Given the description of an element on the screen output the (x, y) to click on. 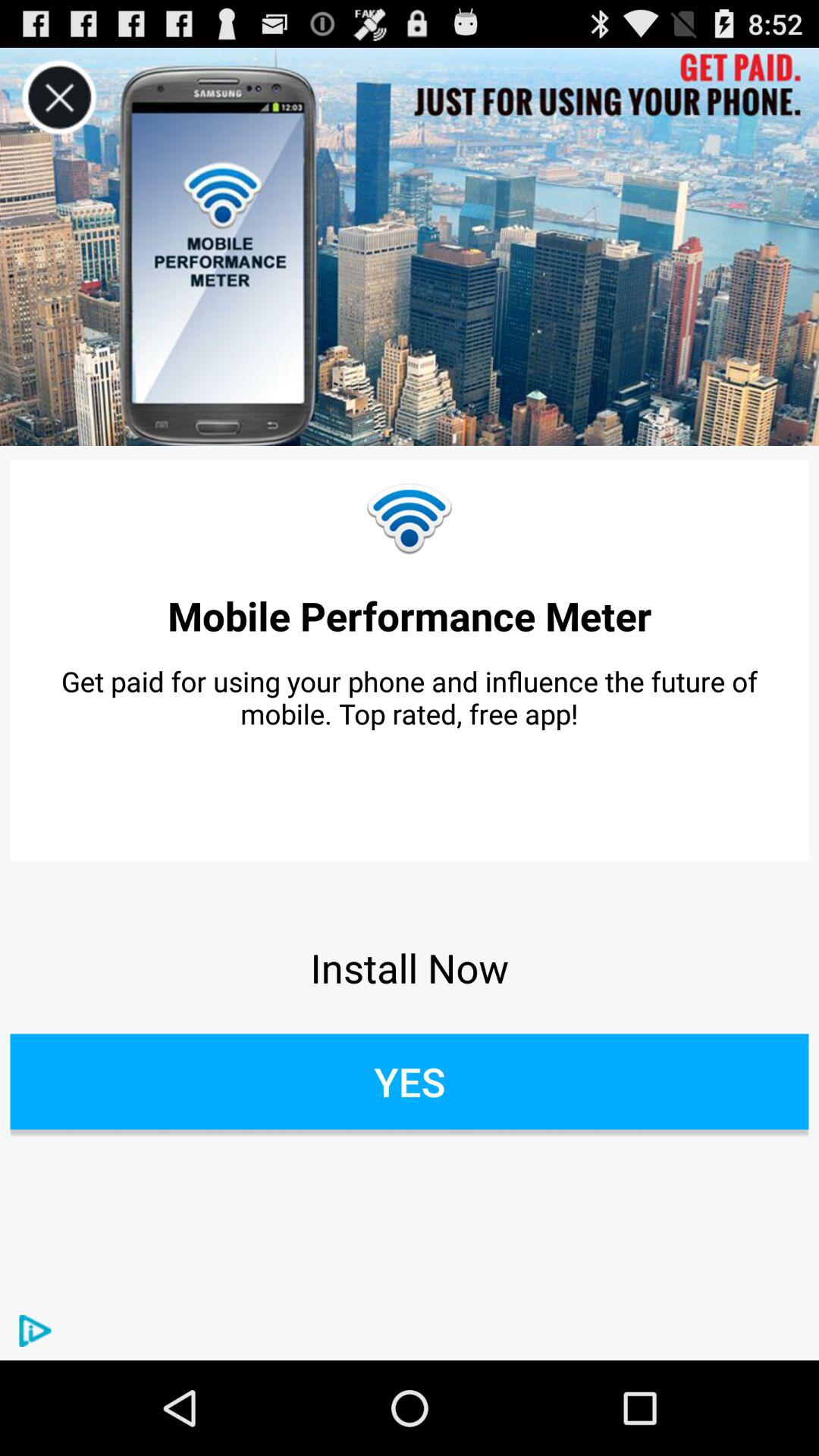
close (59, 97)
